Given the description of an element on the screen output the (x, y) to click on. 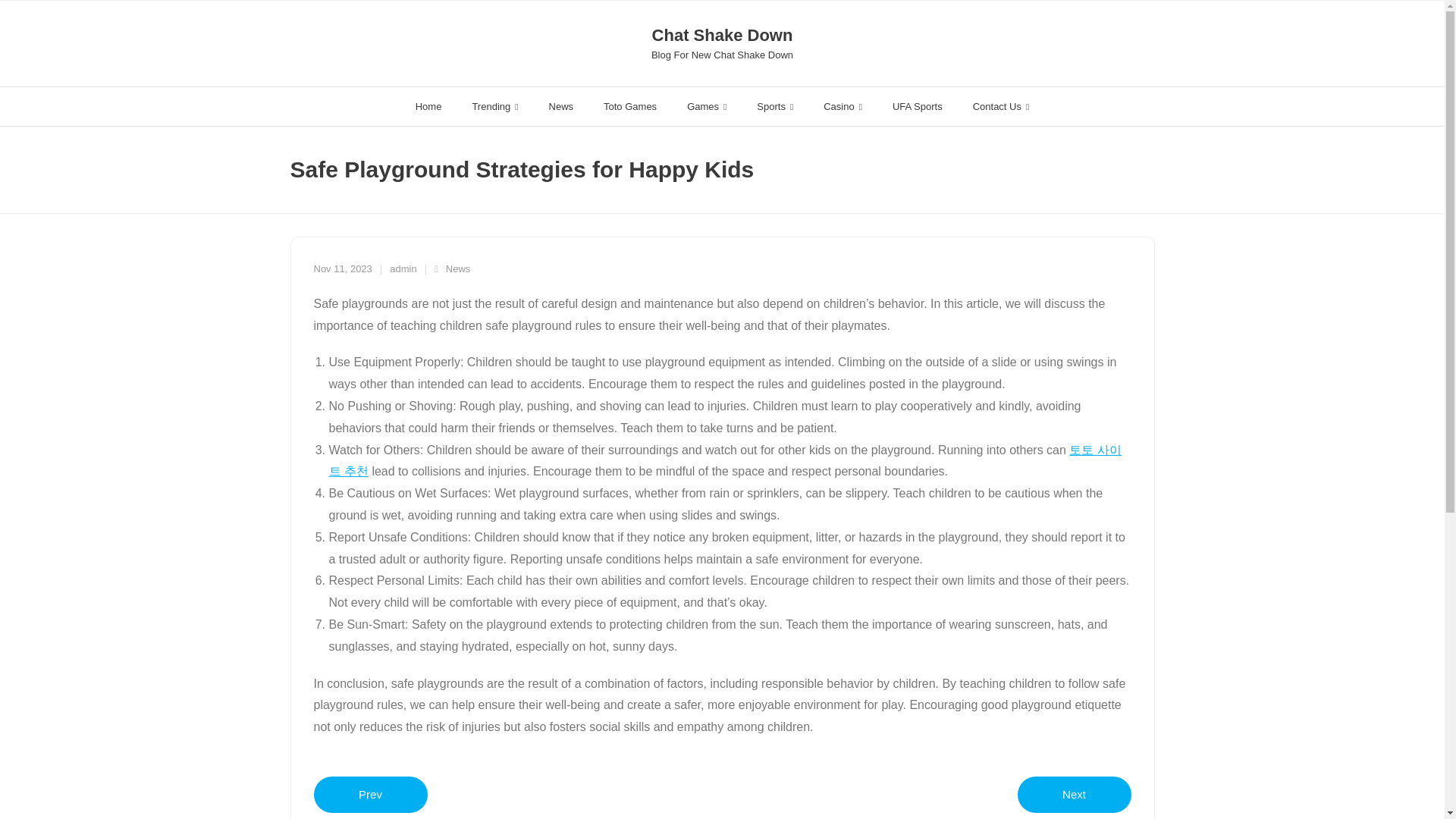
View all posts by admin (403, 268)
Toto Games (629, 106)
Casino (842, 106)
Home (428, 106)
Safe Playground Strategies for Happy Kids (343, 268)
Games (706, 106)
Trending (494, 106)
News (561, 106)
Contact Us (1001, 106)
UFA Sports (917, 106)
Sports (774, 106)
